Given the description of an element on the screen output the (x, y) to click on. 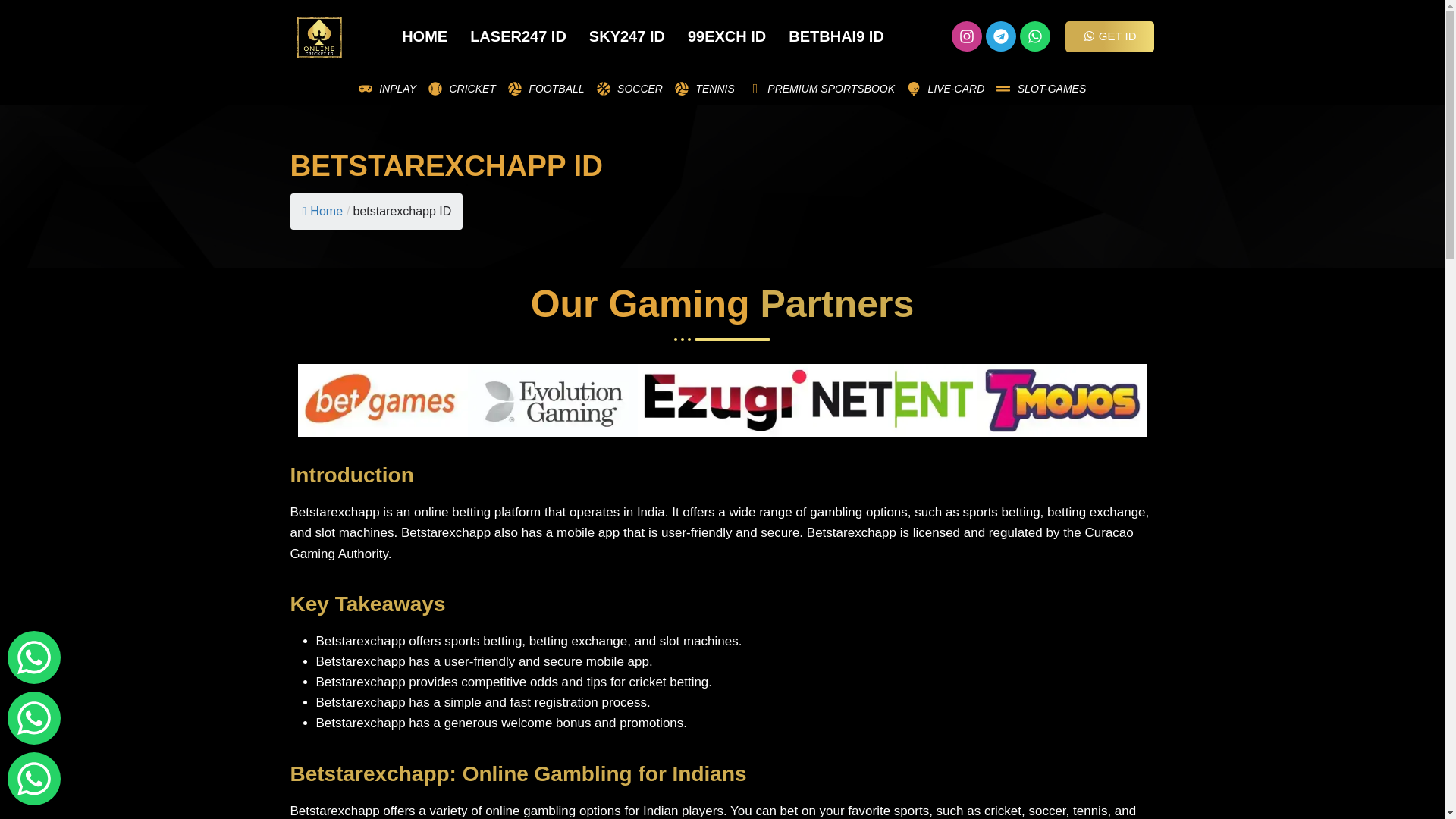
Home (321, 210)
SKY247 ID (627, 36)
GET ID (1109, 36)
betstarexchapp ID (401, 210)
HOME (424, 36)
99EXCH ID (727, 36)
LASER247 ID (518, 36)
BETBHAI9 ID (836, 36)
